Given the description of an element on the screen output the (x, y) to click on. 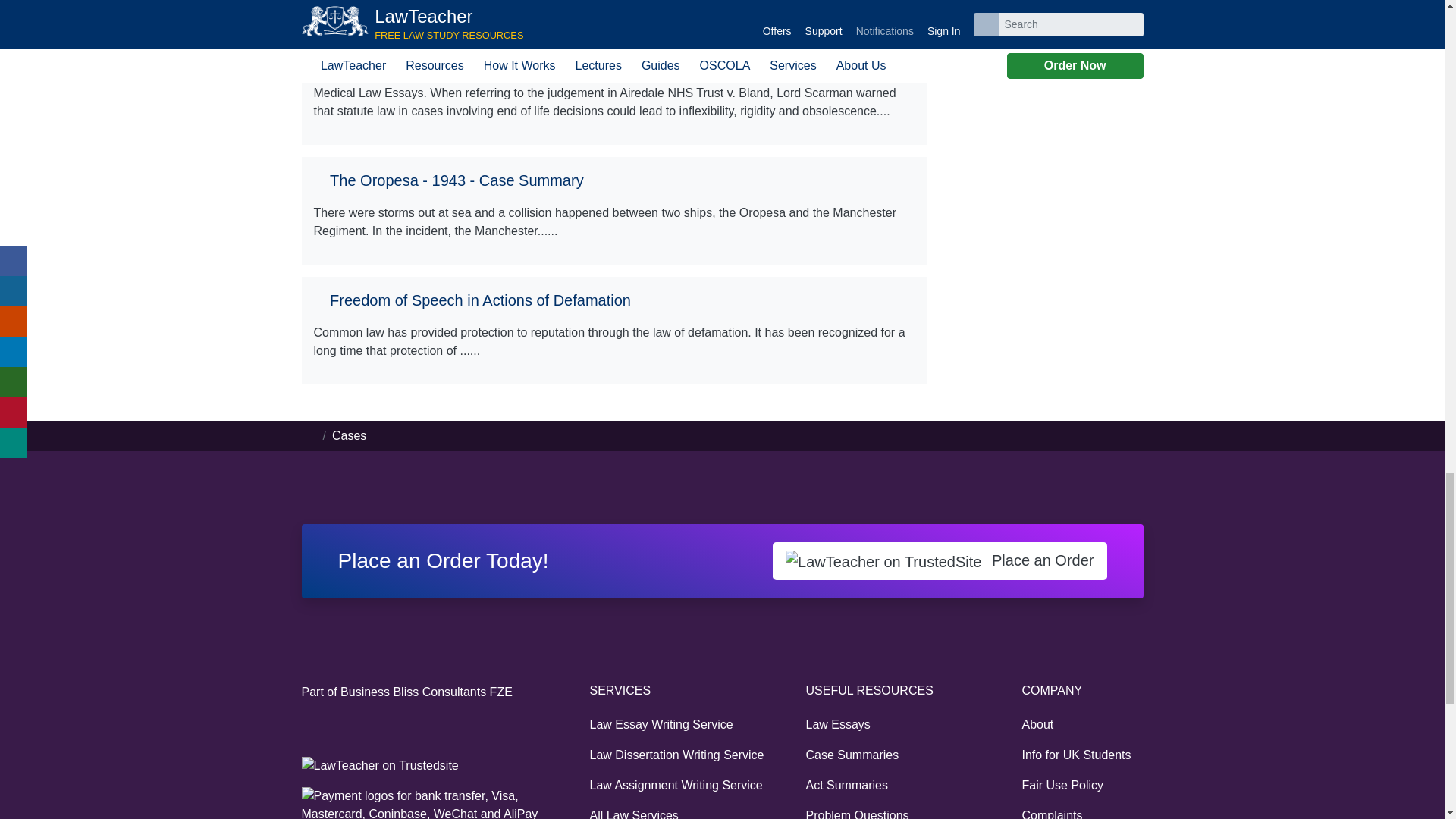
homepage link (309, 435)
